Given the description of an element on the screen output the (x, y) to click on. 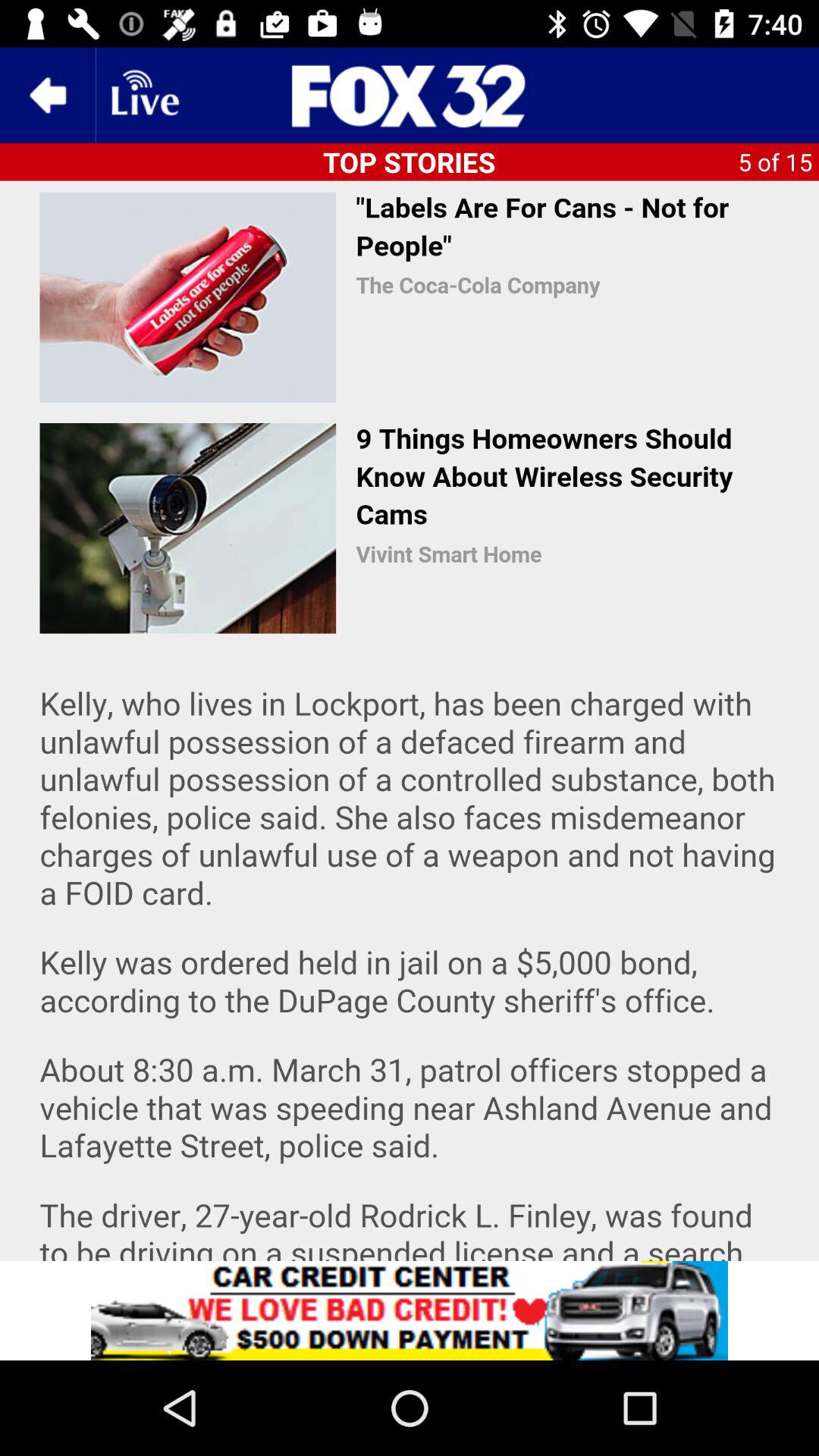
go back (47, 95)
